Given the description of an element on the screen output the (x, y) to click on. 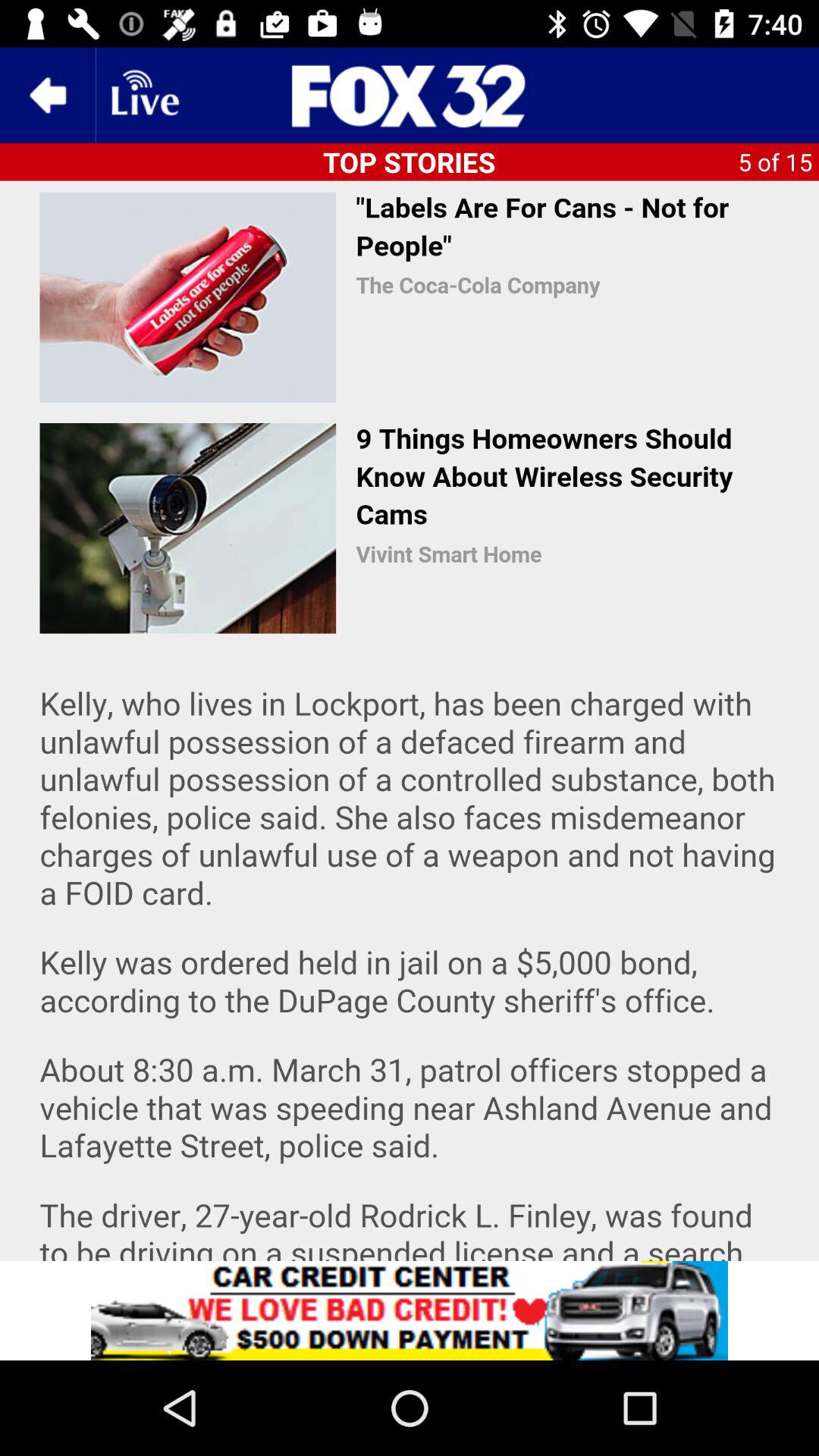
go back (47, 95)
